Given the description of an element on the screen output the (x, y) to click on. 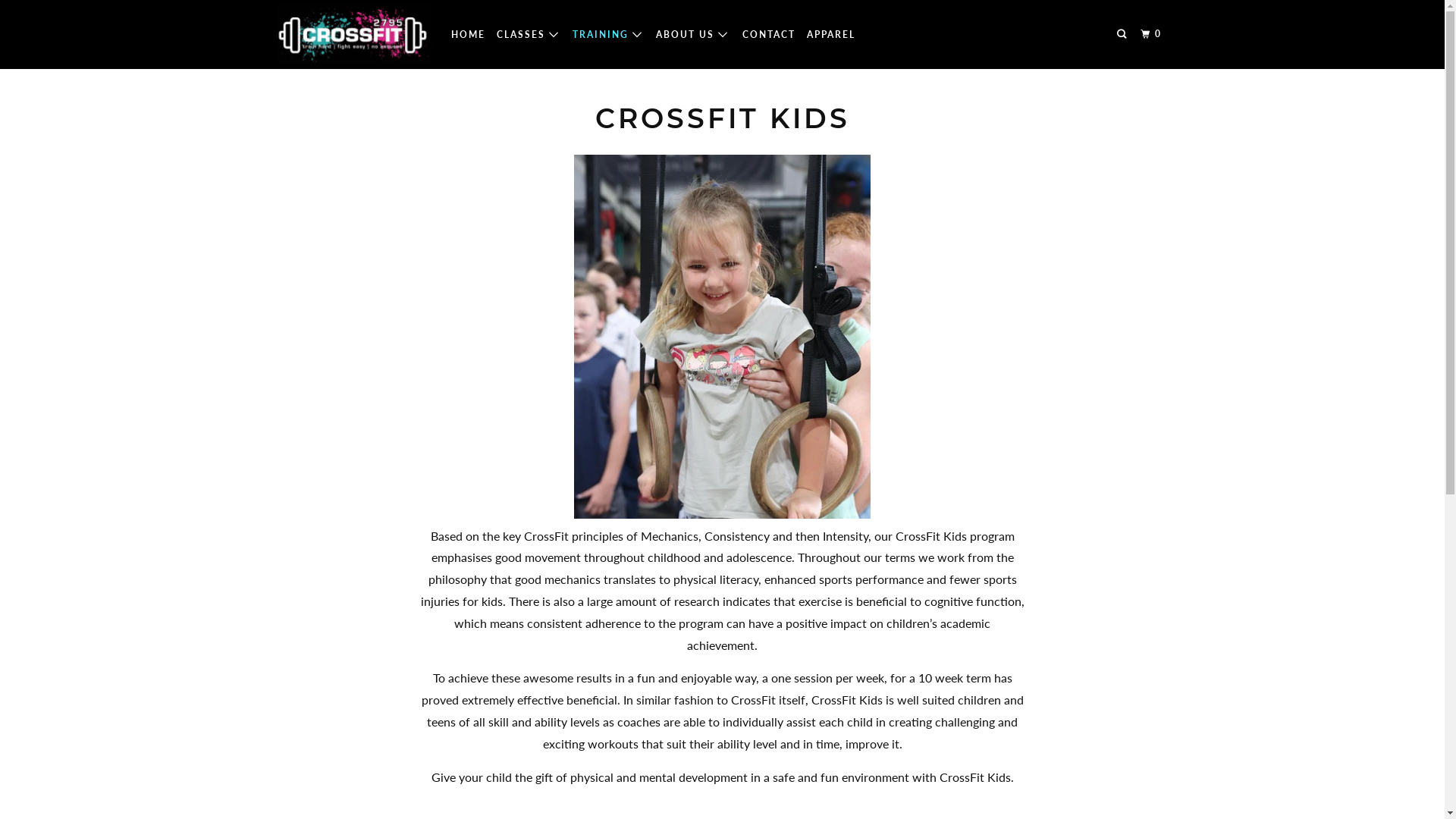
TRAINING Element type: text (608, 34)
CLASSES Element type: text (527, 34)
CONTACT Element type: text (768, 34)
ABOUT US Element type: text (692, 34)
Search Element type: hover (1122, 34)
APPAREL Element type: text (830, 34)
HOME Element type: text (467, 34)
0 Element type: text (1152, 34)
Crossfit 2795 Element type: hover (351, 34)
